Given the description of an element on the screen output the (x, y) to click on. 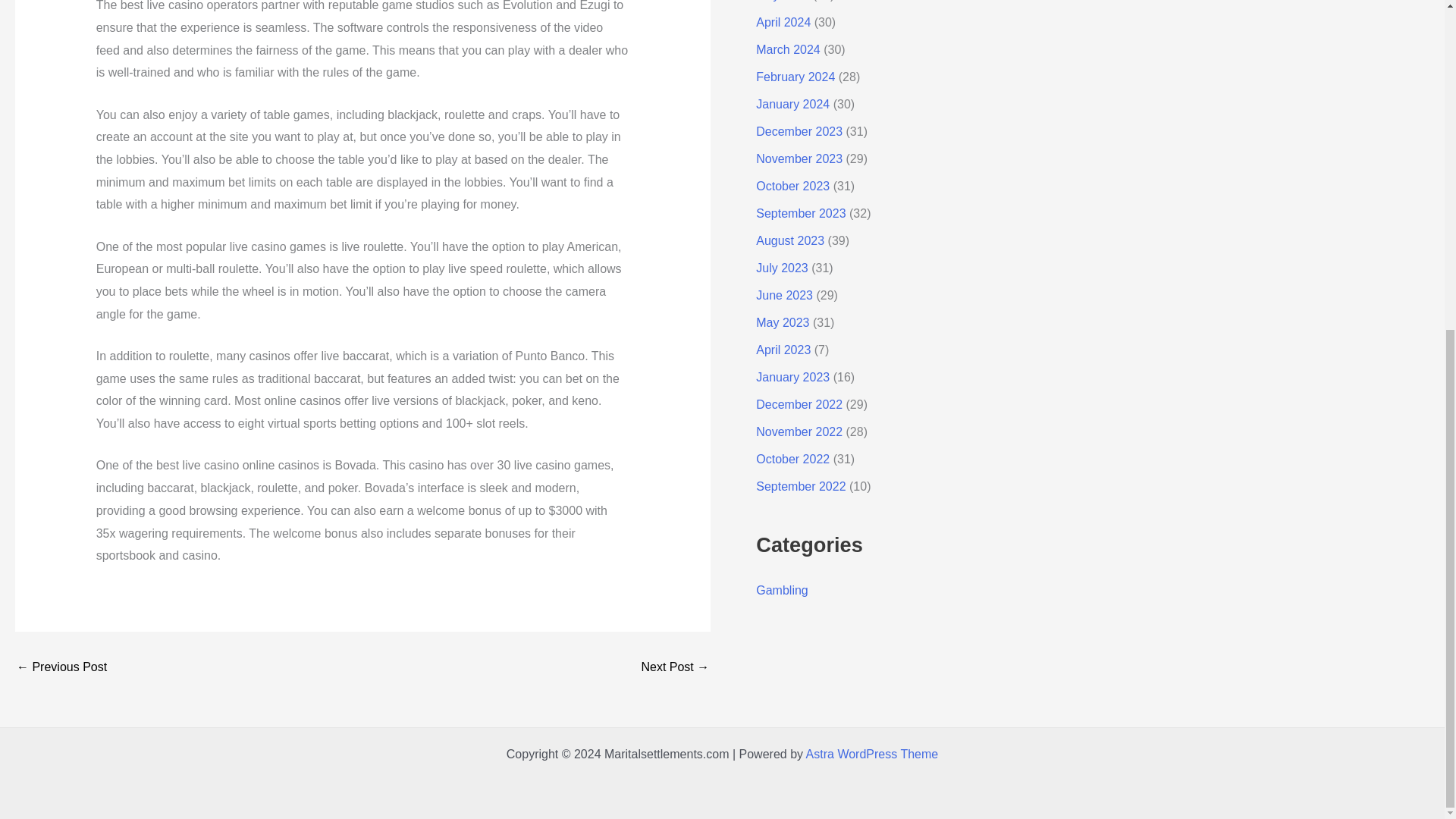
January 2023 (792, 377)
January 2024 (792, 103)
December 2023 (799, 131)
October 2023 (792, 185)
April 2023 (782, 349)
May 2024 (782, 0)
November 2023 (799, 158)
Astra WordPress Theme (872, 753)
February 2024 (794, 76)
December 2022 (799, 404)
May 2023 (782, 322)
Gambling (781, 590)
September 2023 (800, 213)
November 2022 (799, 431)
September 2022 (800, 486)
